Given the description of an element on the screen output the (x, y) to click on. 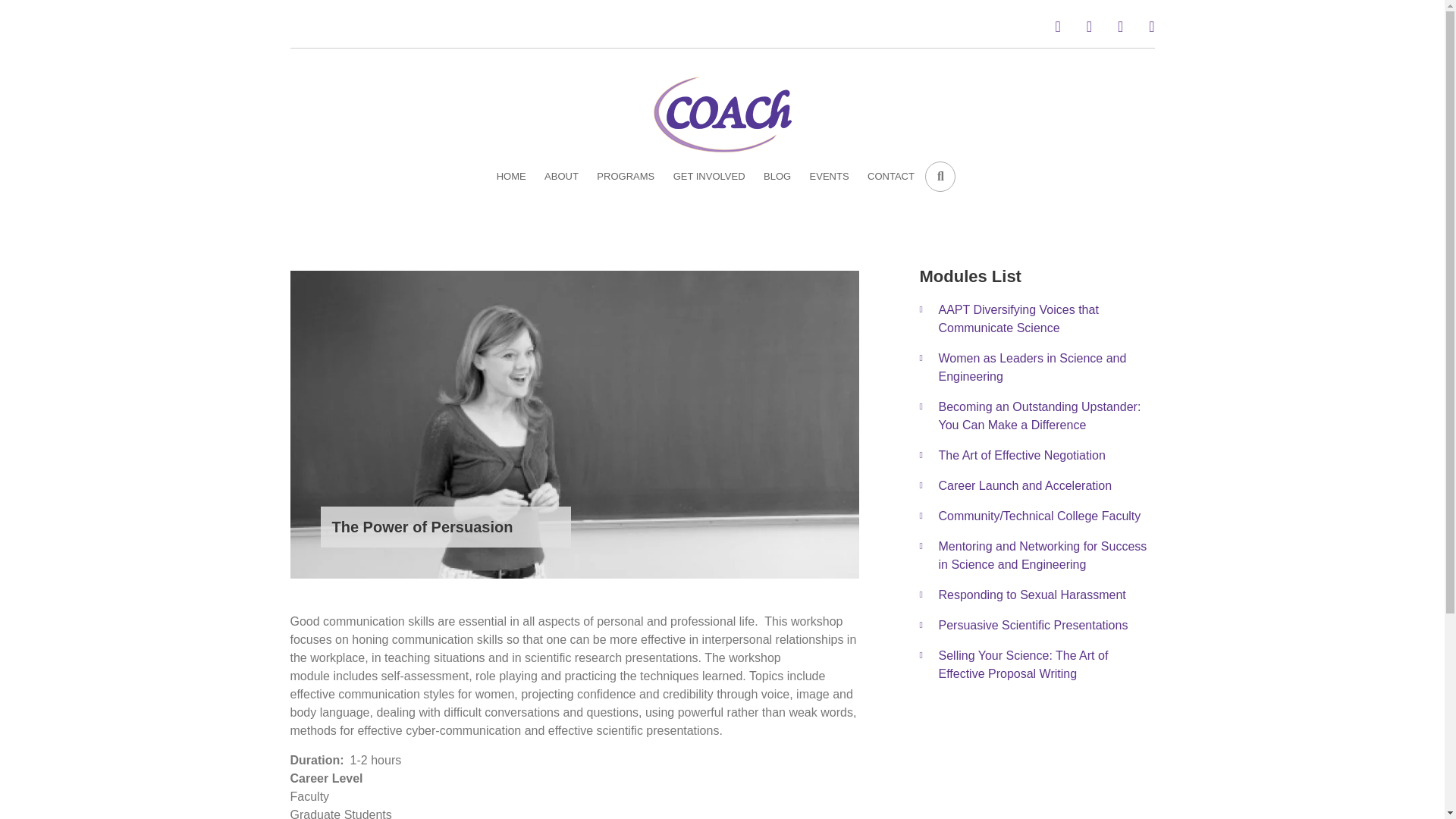
AAPT Diversifying Voices that Communicate Science (1061, 318)
CONTACT (890, 175)
Women as Leaders in Science and Engineering (1056, 367)
FA-SEARCH DROPDOWN TRIGGER (939, 176)
ABOUT (561, 175)
BLOG (776, 175)
The Art of Effective Negotiation (1049, 455)
Career Launch and Acceleration (1045, 485)
Persuasive Scientific Presentations (1038, 625)
GET INVOLVED (708, 175)
Becoming an Outstanding Upstander: You Can Make a Difference (1052, 416)
PROGRAMS (625, 175)
